Given the description of an element on the screen output the (x, y) to click on. 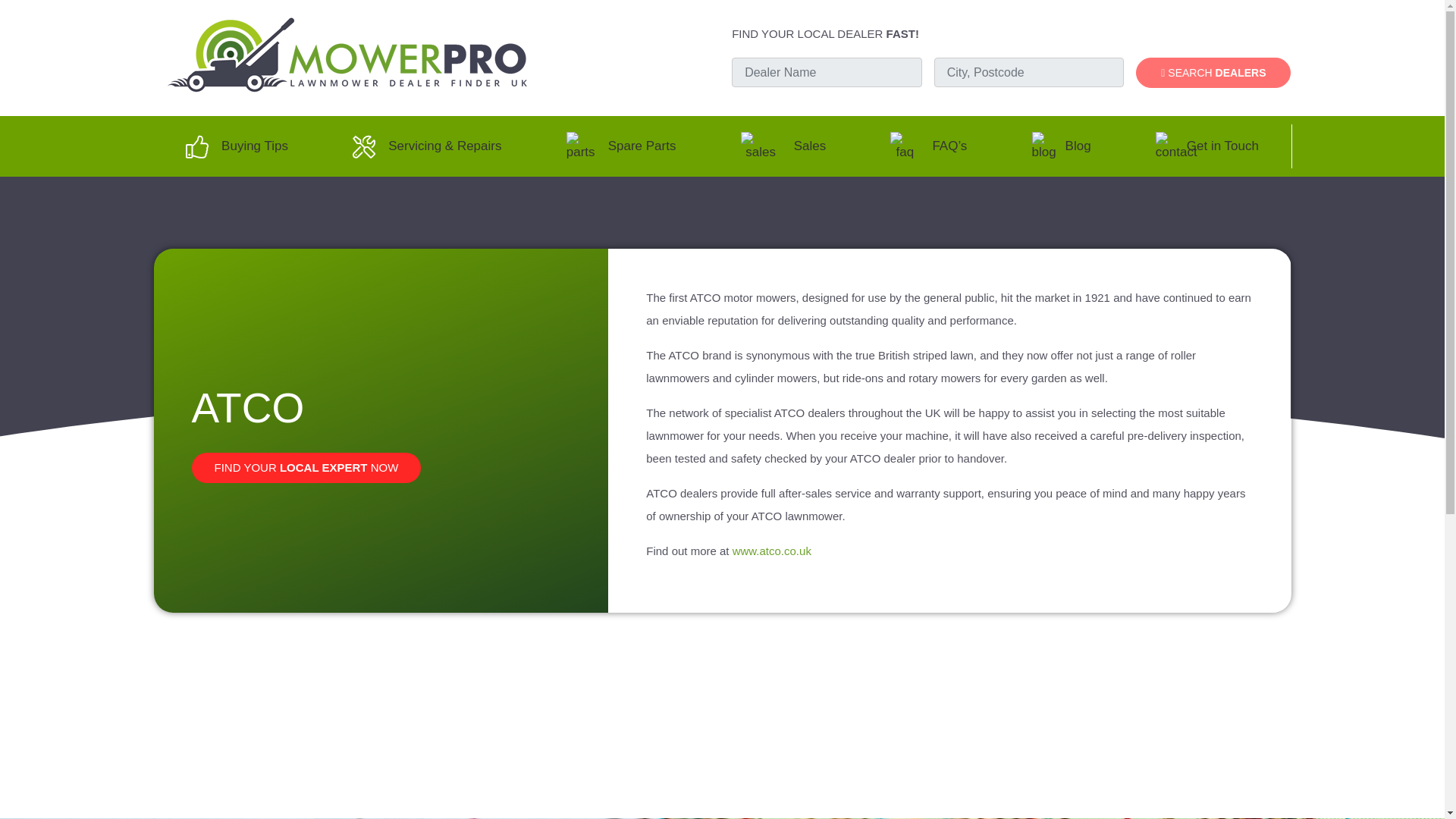
Spare Parts (620, 146)
FIND YOUR LOCAL EXPERT NOW (305, 467)
www.atco.co.uk (771, 550)
SEARCH DEALERS (1212, 72)
Get in Touch (1206, 146)
Blog (1060, 146)
Buying Tips (236, 146)
Sales (783, 146)
